Given the description of an element on the screen output the (x, y) to click on. 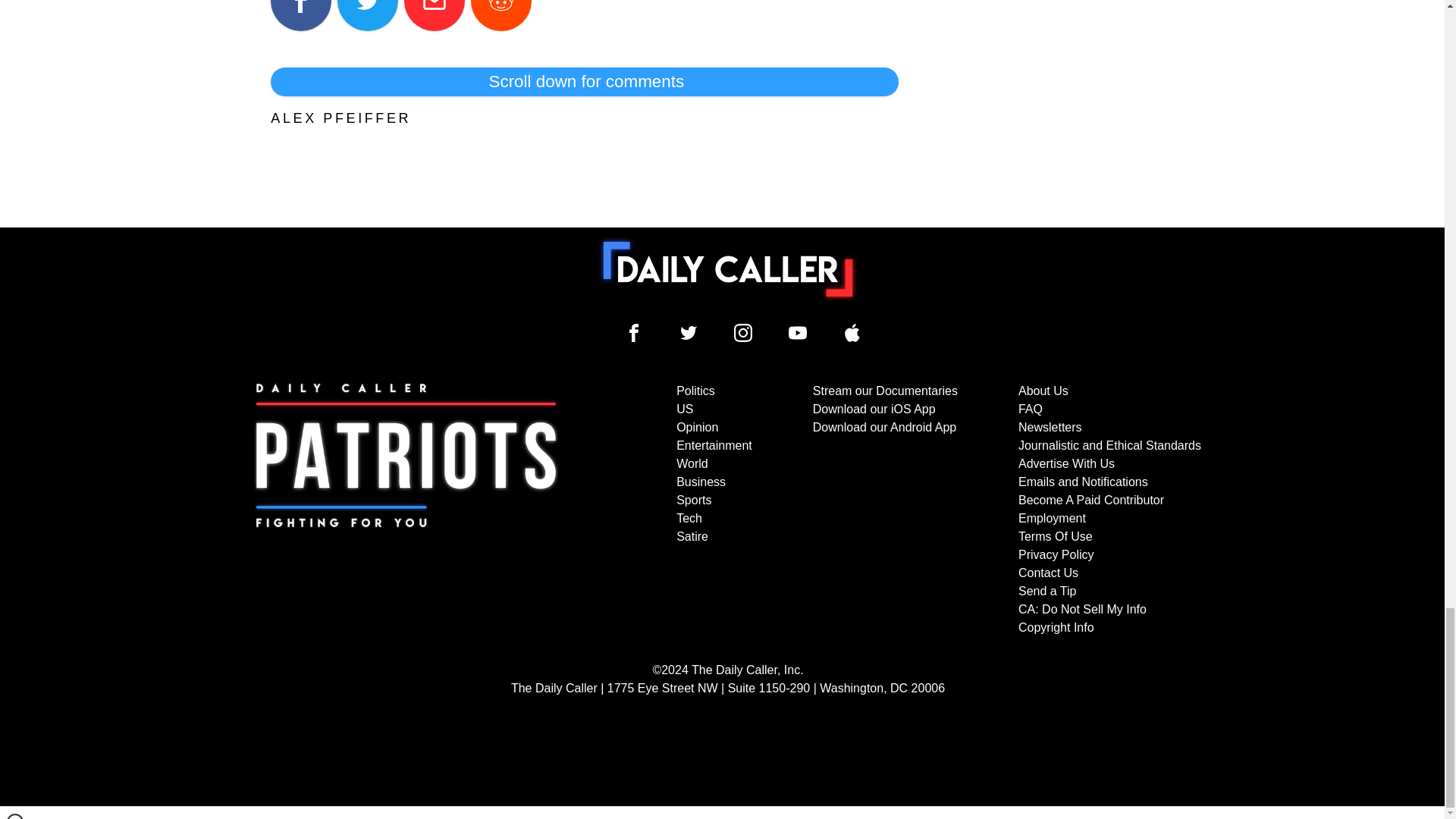
Daily Caller Instagram (742, 332)
Daily Caller YouTube (797, 332)
Subscribe to The Daily Caller (405, 509)
Scroll down for comments (584, 81)
To home page (727, 268)
Daily Caller YouTube (852, 332)
Daily Caller Twitter (688, 332)
Daily Caller Facebook (633, 332)
